Given the description of an element on the screen output the (x, y) to click on. 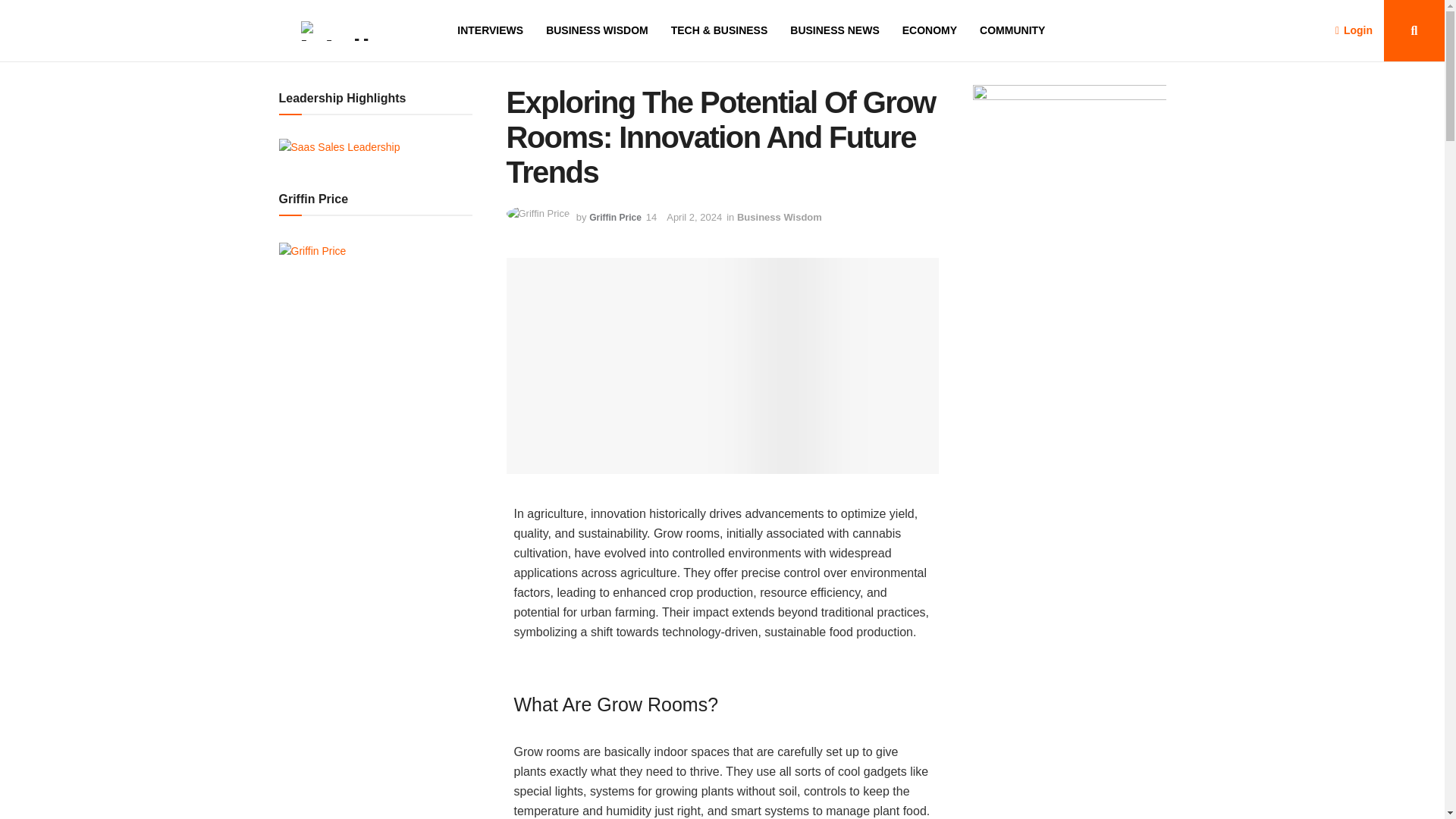
ECONOMY (929, 30)
Leadership Highlights (339, 146)
Griffin Price (615, 217)
April 2, 2024 (694, 216)
Business Wisdom (779, 216)
COMMUNITY (1012, 30)
BUSINESS NEWS (834, 30)
INTERVIEWS (489, 30)
BUSINESS WISDOM (596, 30)
